Given the description of an element on the screen output the (x, y) to click on. 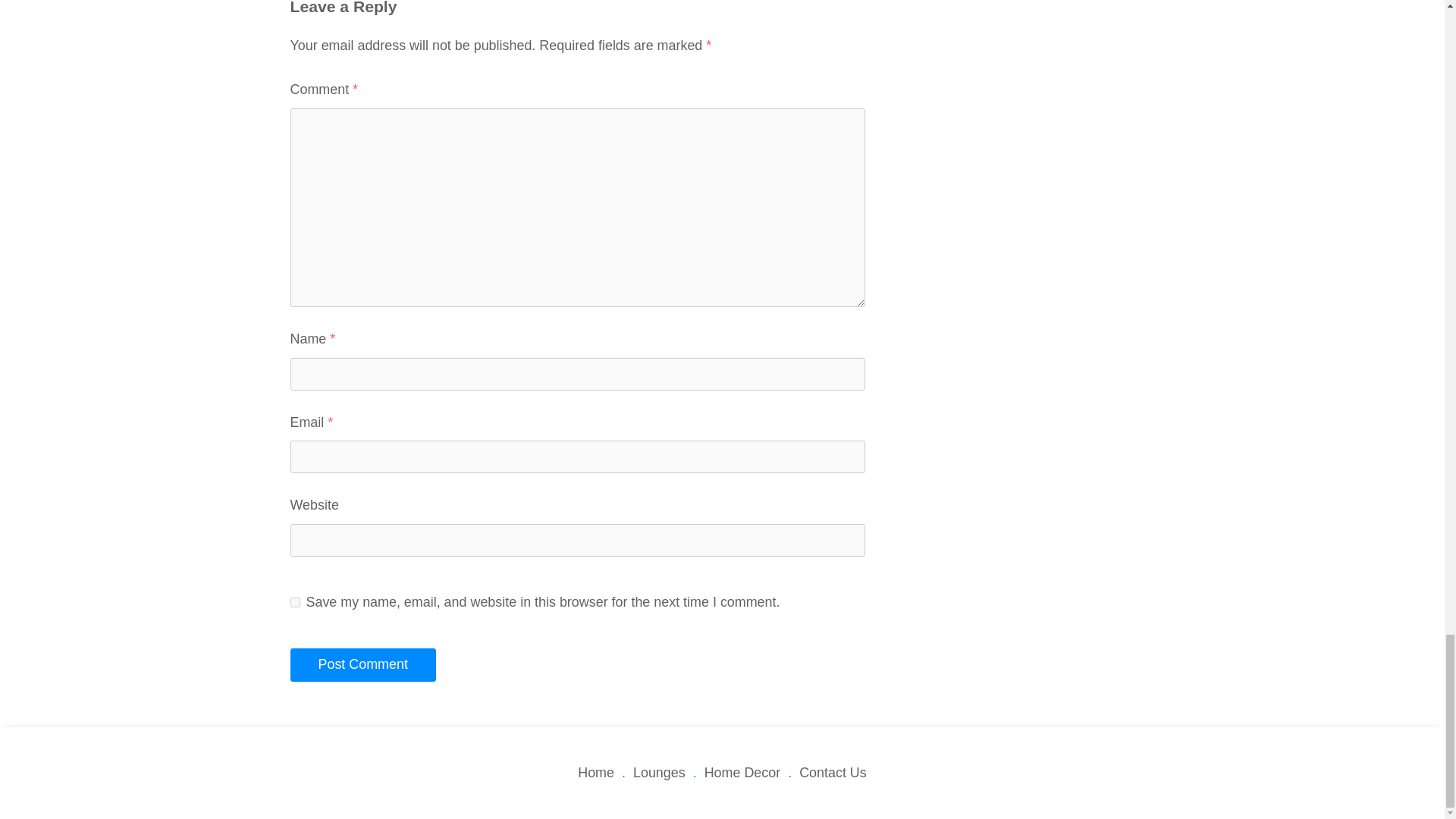
Post Comment (362, 664)
yes (294, 602)
Post Comment (362, 664)
